Given the description of an element on the screen output the (x, y) to click on. 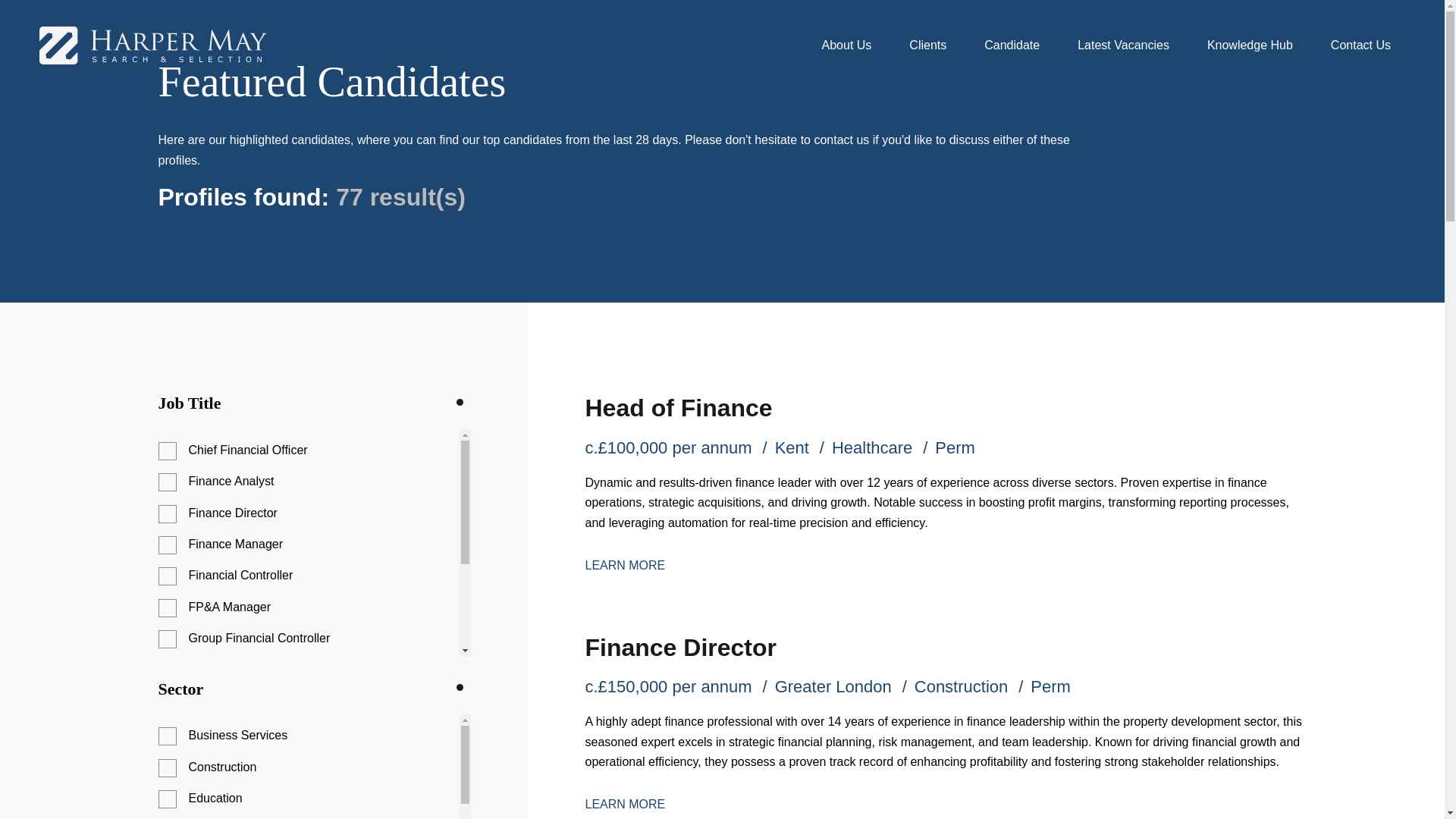
LEARN MORE (625, 803)
LEARN MORE (625, 564)
Latest Vacancies (1123, 44)
Contact Us (1360, 44)
Finance Director (680, 646)
Knowledge Hub (1249, 44)
Candidate (1011, 44)
Head of Finance (678, 407)
About Us (847, 44)
Clients (927, 44)
